Given the description of an element on the screen output the (x, y) to click on. 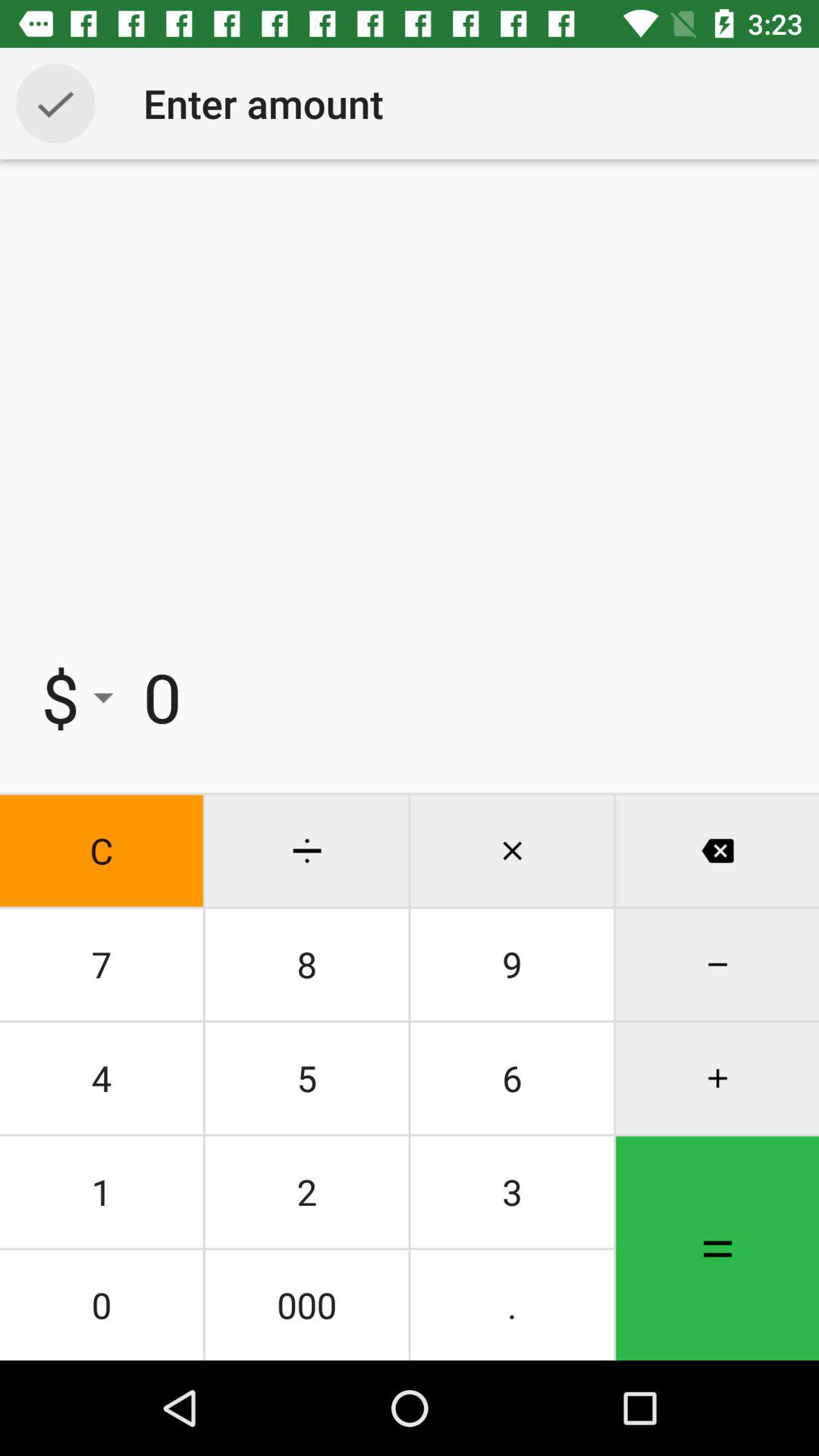
turn on the 3 (511, 1191)
